Given the description of an element on the screen output the (x, y) to click on. 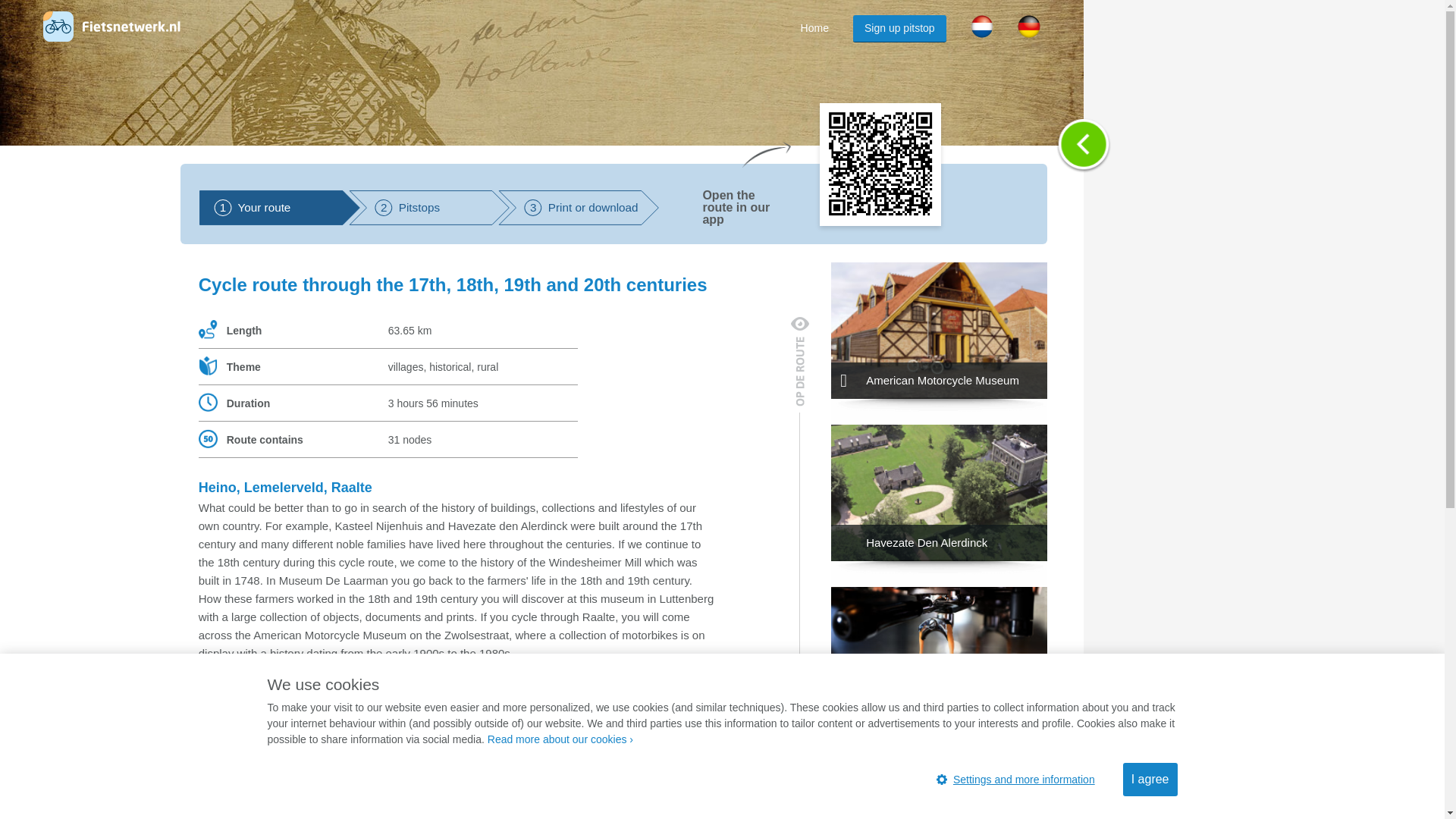
theme (207, 365)
American Motorcycle Museum (938, 330)
Toggle attribution (578, 207)
duits (1427, 802)
OpenMapTiles (429, 207)
nederlands (1029, 26)
Restaurant De Hazelaer (1260, 801)
